Given the description of an element on the screen output the (x, y) to click on. 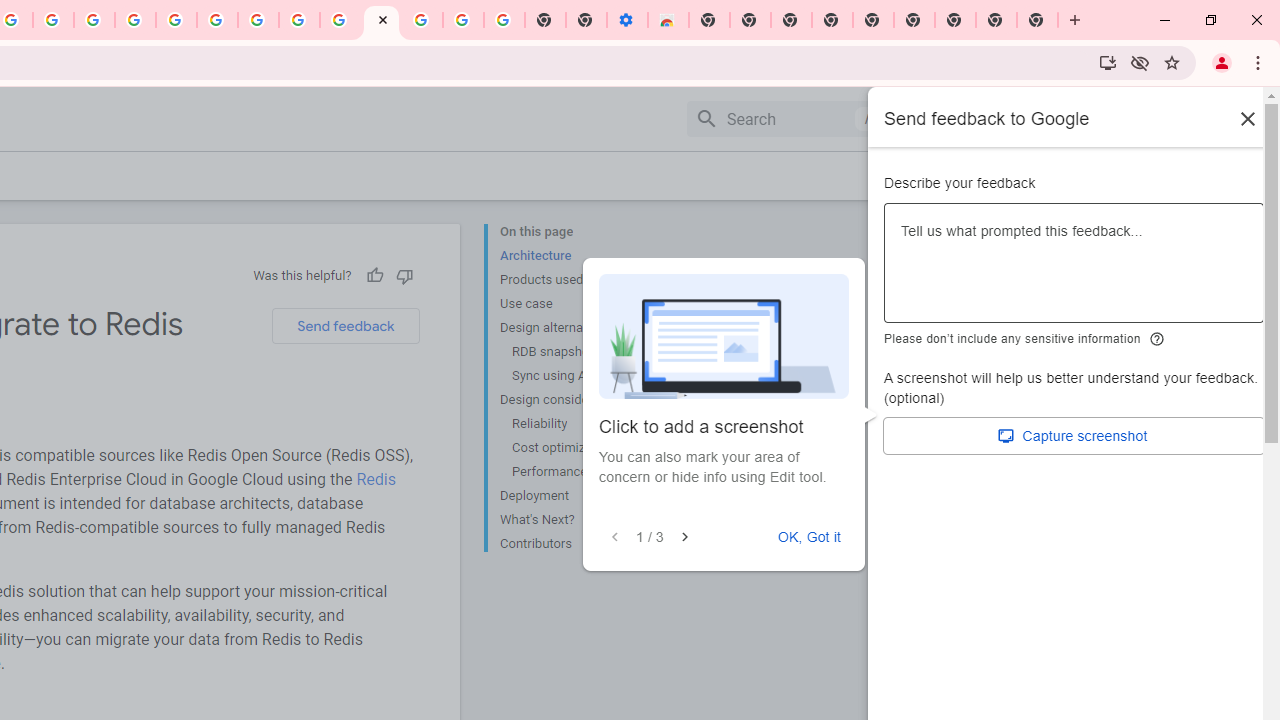
Deployment (580, 495)
Create your Google Account (53, 20)
OK, Got it (809, 537)
Use case (580, 304)
Send feedback (345, 326)
Sign in - Google Accounts (421, 20)
Sign in - Google Accounts (176, 20)
Turn cookies on or off - Computer - Google Account Help (503, 20)
Next (683, 537)
What's Next? (580, 520)
Products used (580, 279)
Previous (615, 537)
